Given the description of an element on the screen output the (x, y) to click on. 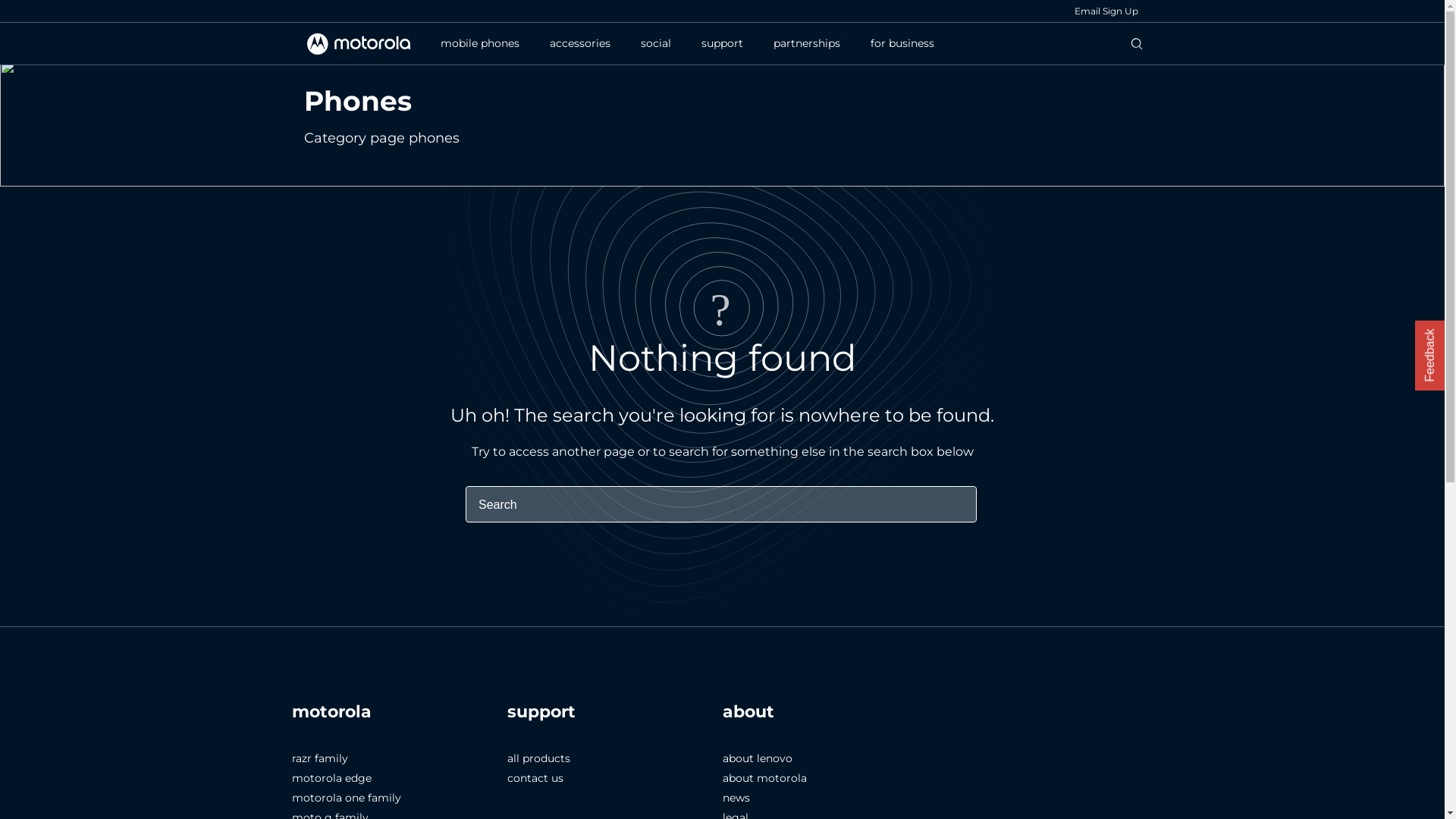
razr family Element type: text (319, 758)
news Element type: text (735, 797)
motorola one family Element type: text (345, 797)
contact us Element type: text (534, 777)
all products Element type: text (537, 758)
about lenovo Element type: text (756, 758)
motorola edge Element type: text (330, 777)
Email Sign Up Element type: text (1105, 10)
about motorola Element type: text (763, 777)
